Given the description of an element on the screen output the (x, y) to click on. 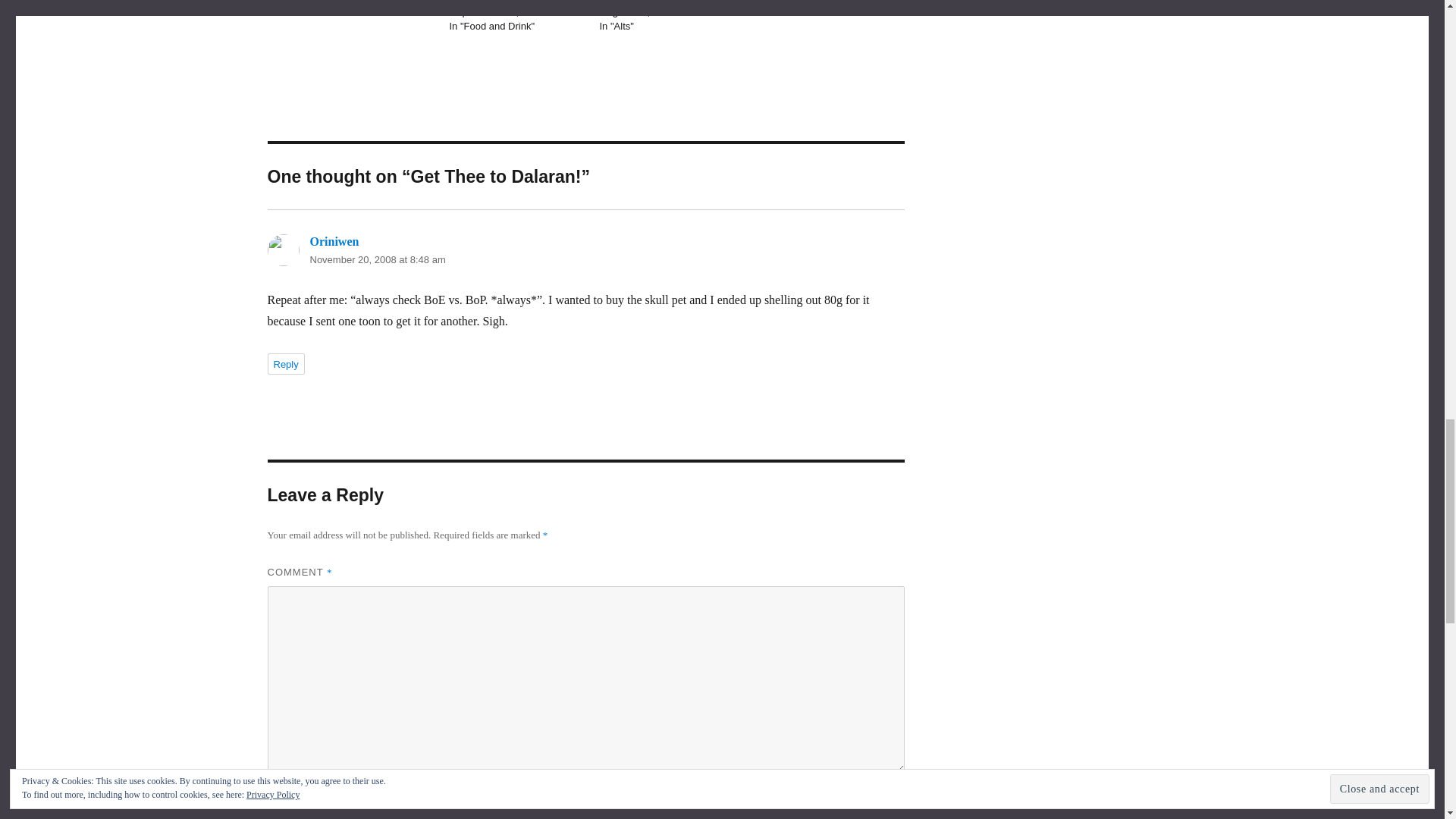
Oriniwen (333, 241)
November 20, 2008 at 8:48 am (376, 259)
Reply (285, 363)
